Given the description of an element on the screen output the (x, y) to click on. 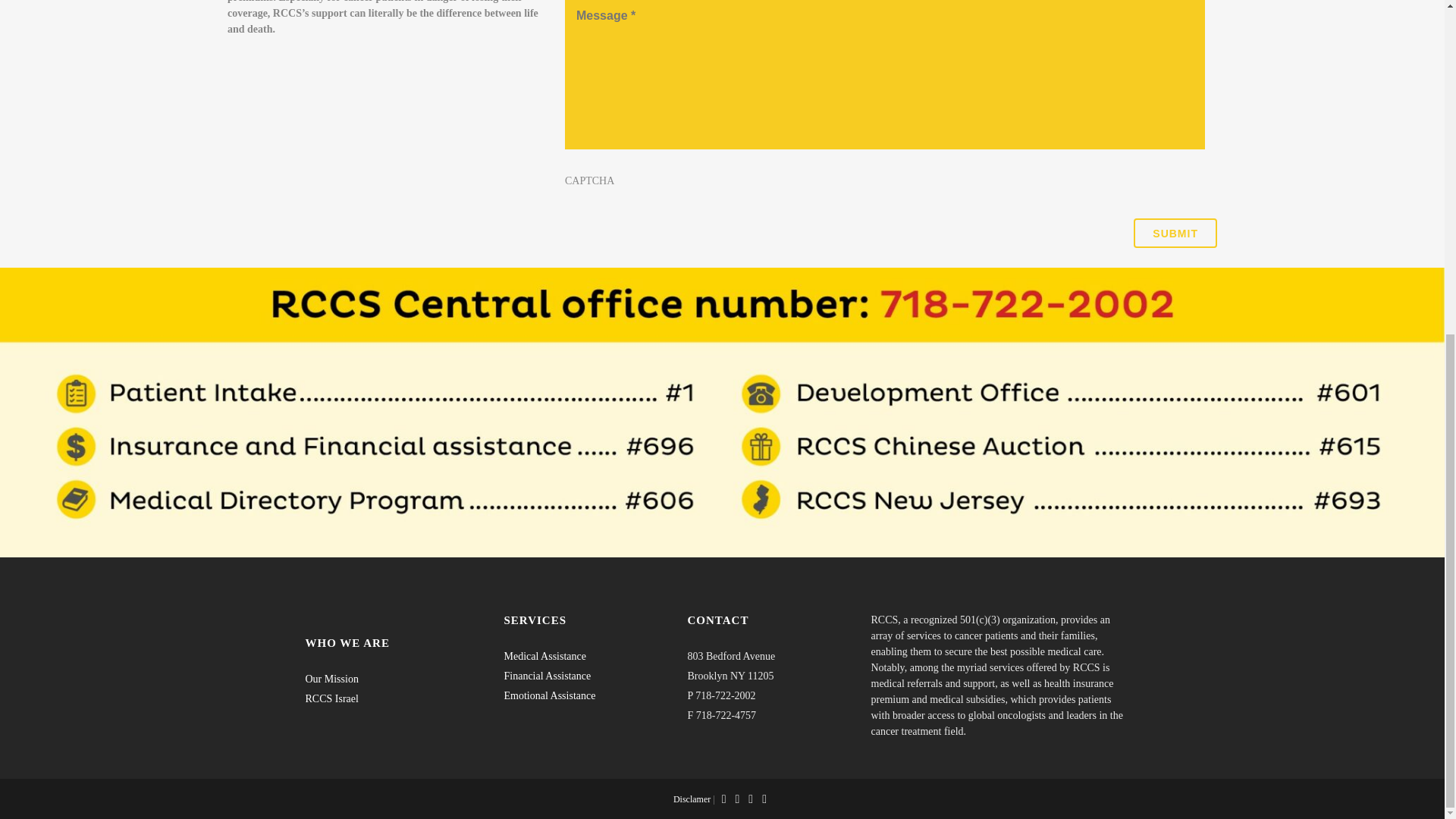
Medical Assistance (544, 96)
Emotional Assistance (549, 135)
Financial Assistance (547, 116)
SUBMIT (1175, 233)
Our Mission (331, 119)
SUBMIT (1175, 233)
Disclamer (691, 238)
RCCS Israel (331, 138)
